Given the description of an element on the screen output the (x, y) to click on. 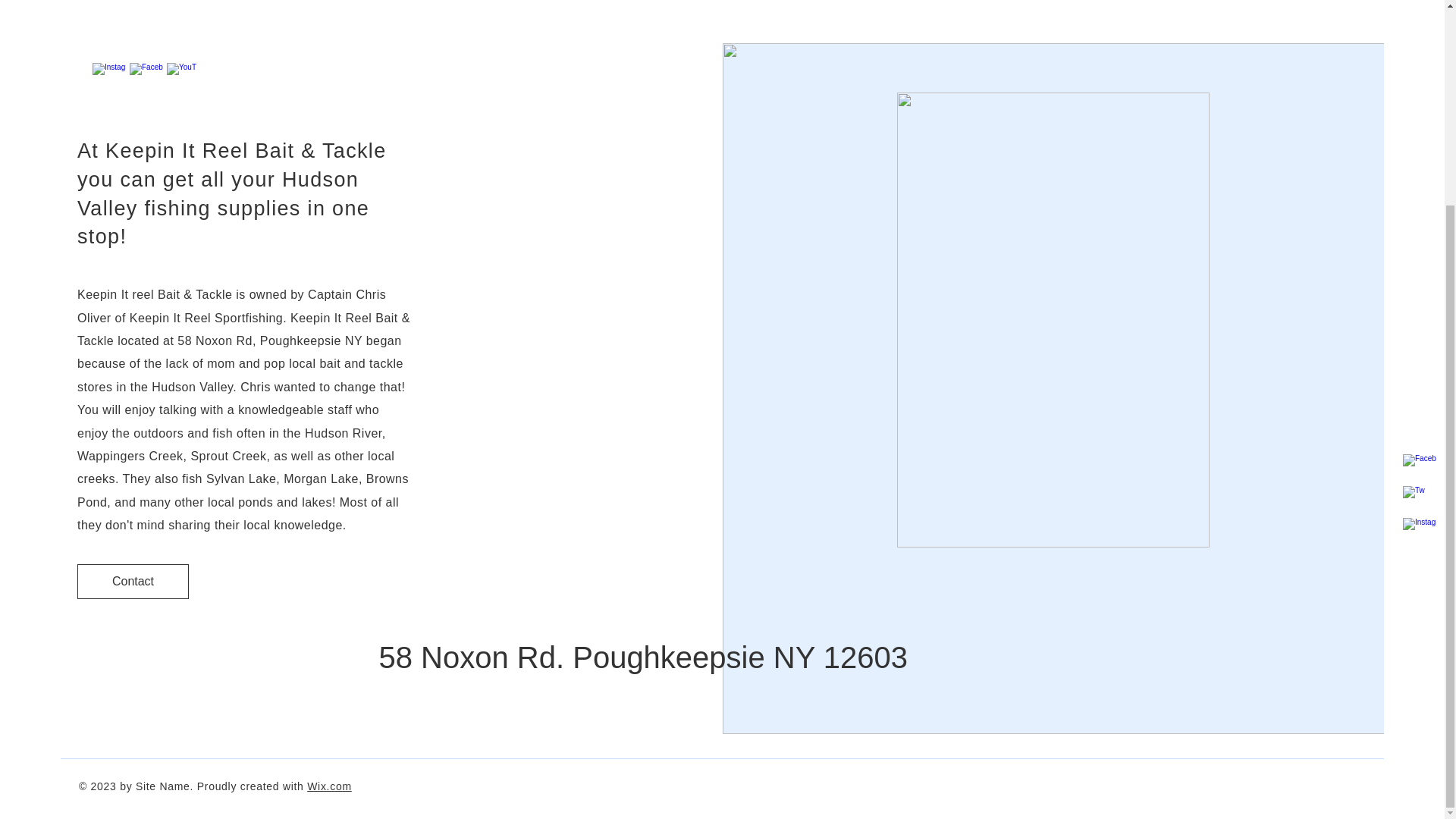
Wix.com (329, 786)
Contact (133, 581)
